Given the description of an element on the screen output the (x, y) to click on. 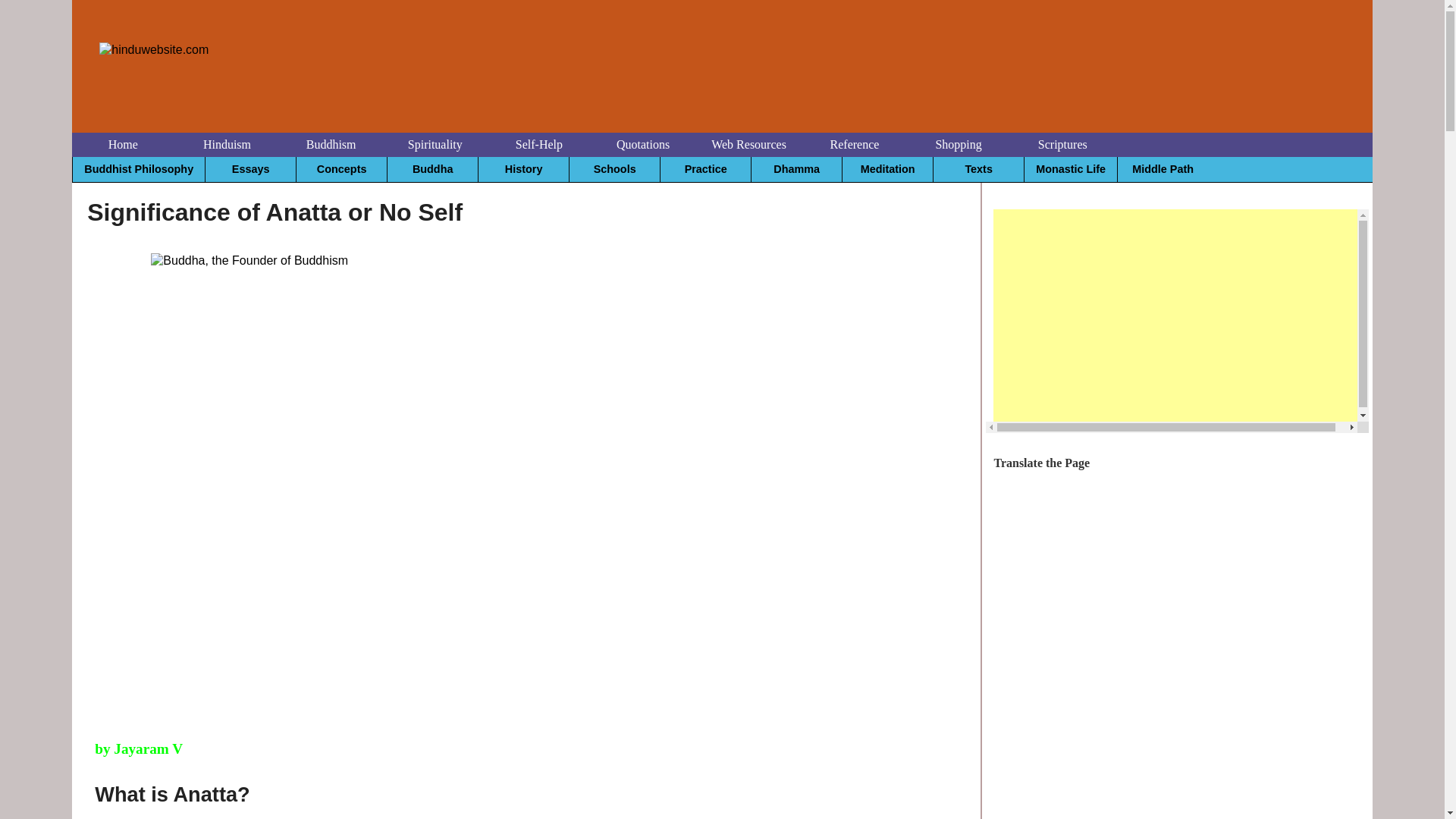
Reference (854, 144)
Spirituality (435, 144)
Quotations (642, 144)
Meditation (887, 168)
Self-Help (538, 144)
Practice (705, 168)
Monastic Life (1070, 168)
Hinduism (226, 144)
Concepts (341, 168)
Buddhist Philosophy (138, 168)
